Given the description of an element on the screen output the (x, y) to click on. 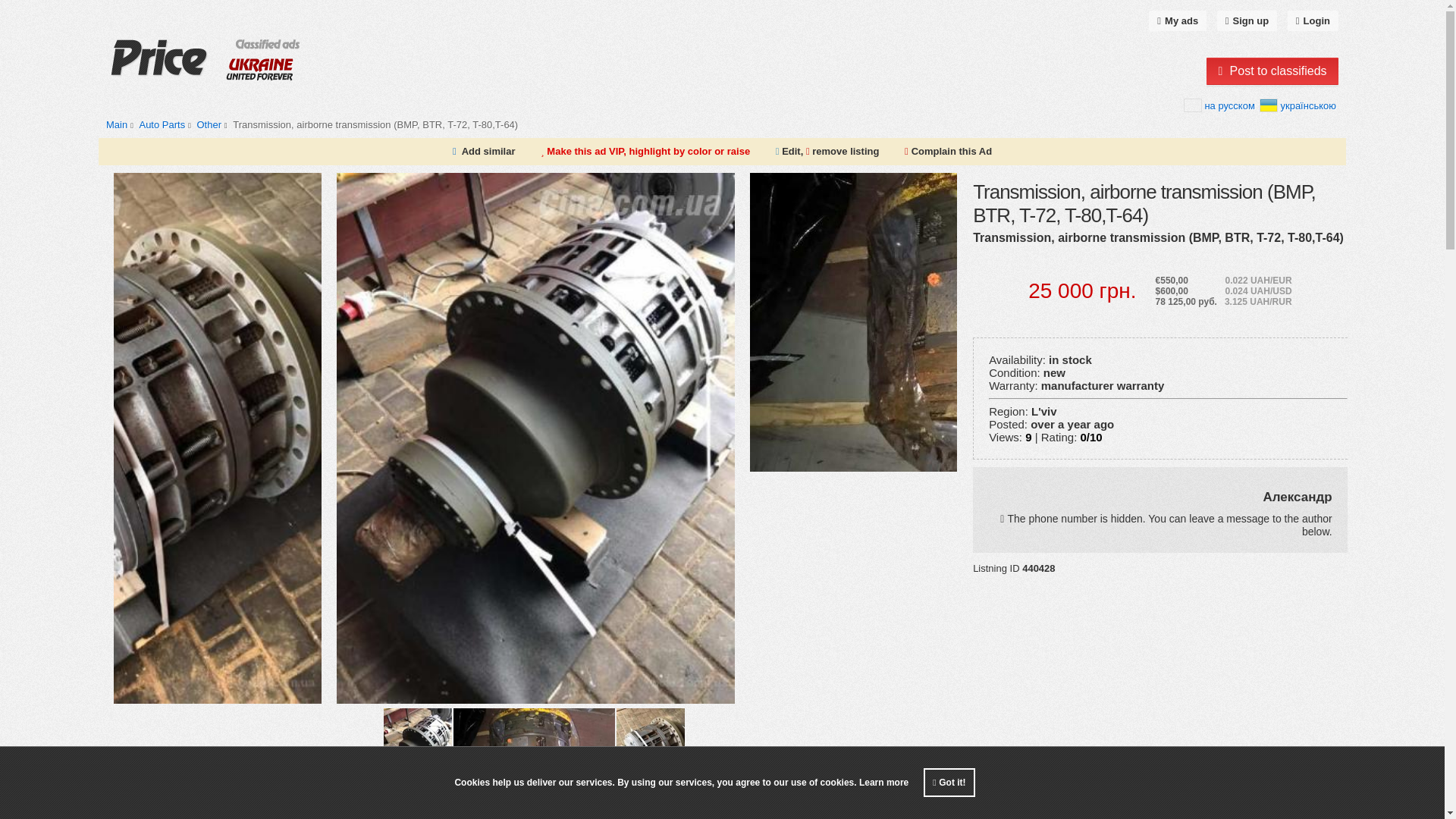
Post to classifieds (1272, 71)
10642 (165, 124)
Edit, remove listing (827, 151)
5344 (213, 124)
Auto Parts (161, 124)
Complain this Ad (948, 151)
Main (117, 124)
Other (208, 124)
Login (1312, 20)
Complain this Ad (947, 151)
